Given the description of an element on the screen output the (x, y) to click on. 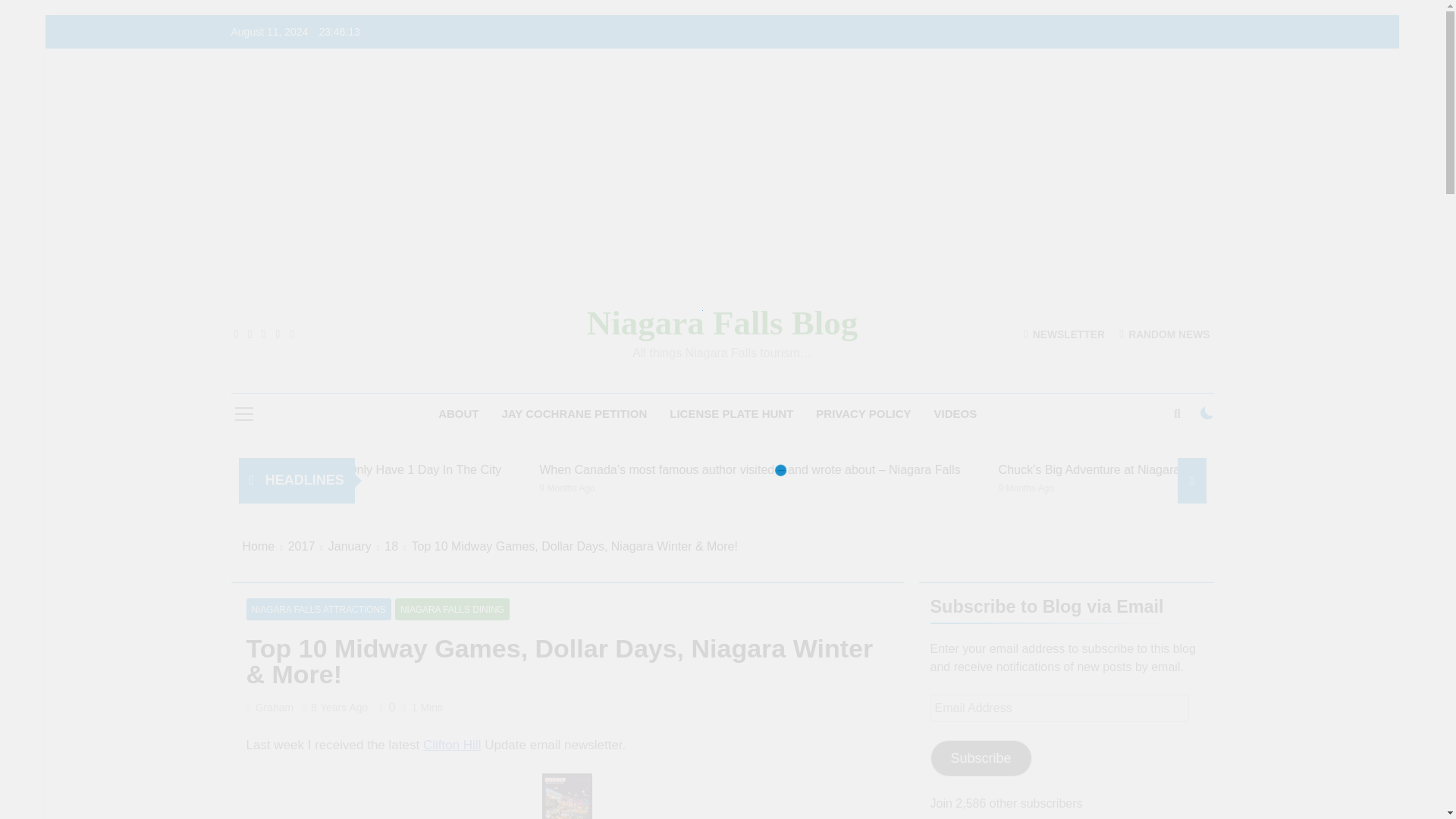
ABOUT (457, 413)
LICENSE PLATE HUNT (731, 413)
VIDEOS (955, 413)
9 Months Ago (334, 486)
JAY COCHRANE PETITION (574, 413)
Niagara Falls Blog (722, 322)
9 Months Ago (766, 486)
